Given the description of an element on the screen output the (x, y) to click on. 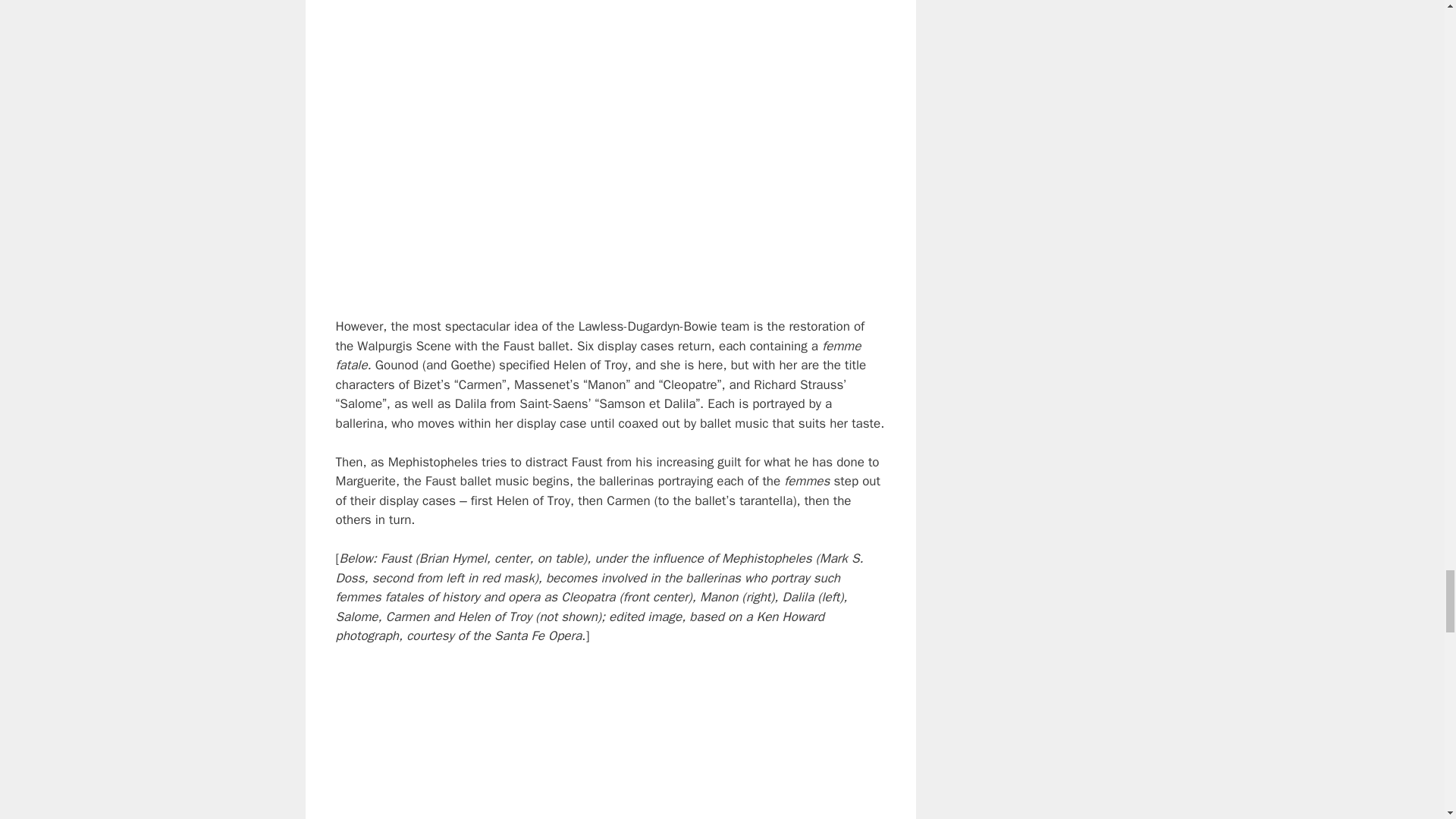
CLEOPATRA AND FAUST (609, 742)
CURSING MARGUERITE (609, 149)
